Given the description of an element on the screen output the (x, y) to click on. 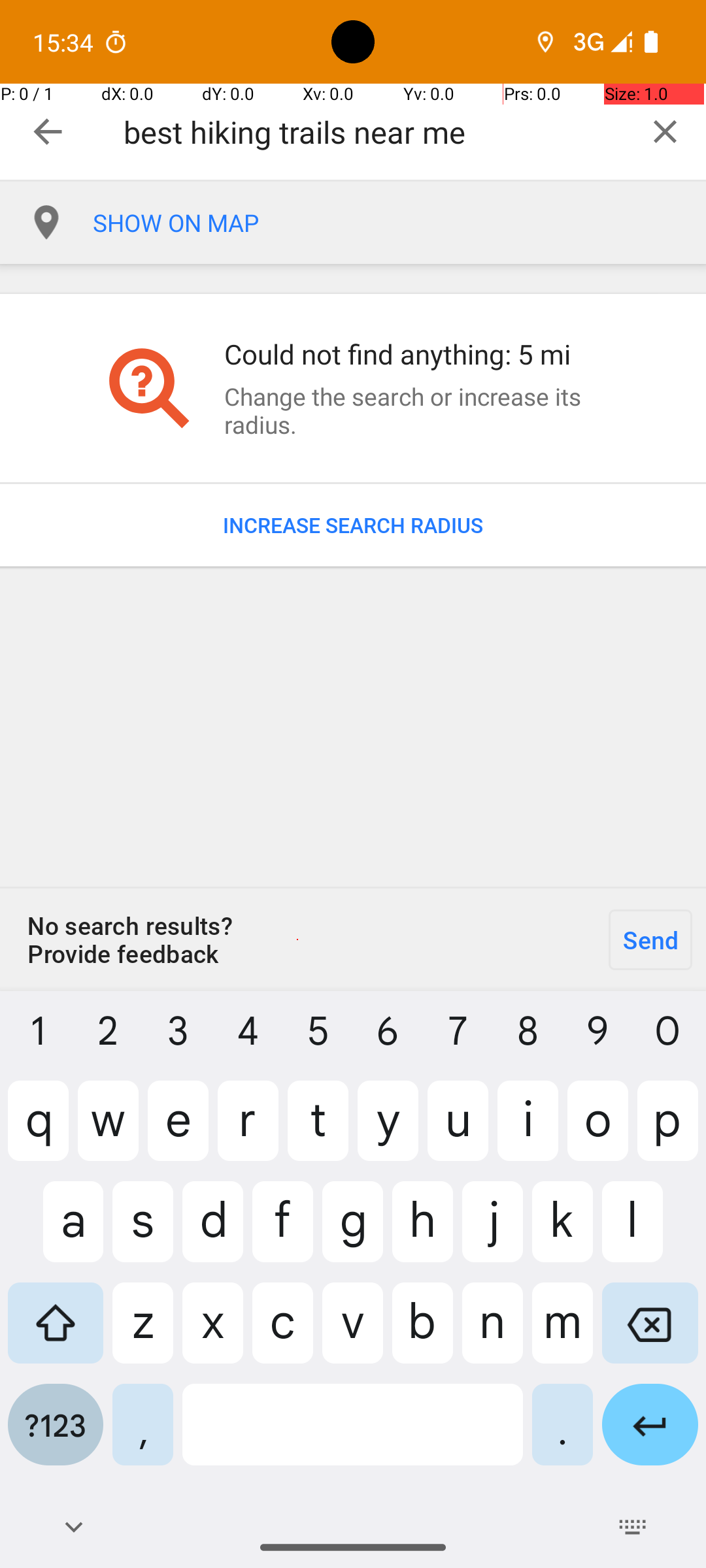
No search results?
Provide feedback Element type: android.widget.TextView (297, 939)
best hiking trails near me Element type: android.widget.EditText (373, 131)
SHOW ON MAP Element type: android.widget.TextView (399, 222)
Could not find anything: 5 mi Element type: android.widget.TextView (414, 353)
Change the search or increase its radius. Element type: android.widget.TextView (414, 410)
INCREASE SEARCH RADIUS Element type: android.widget.TextView (352, 524)
